Given the description of an element on the screen output the (x, y) to click on. 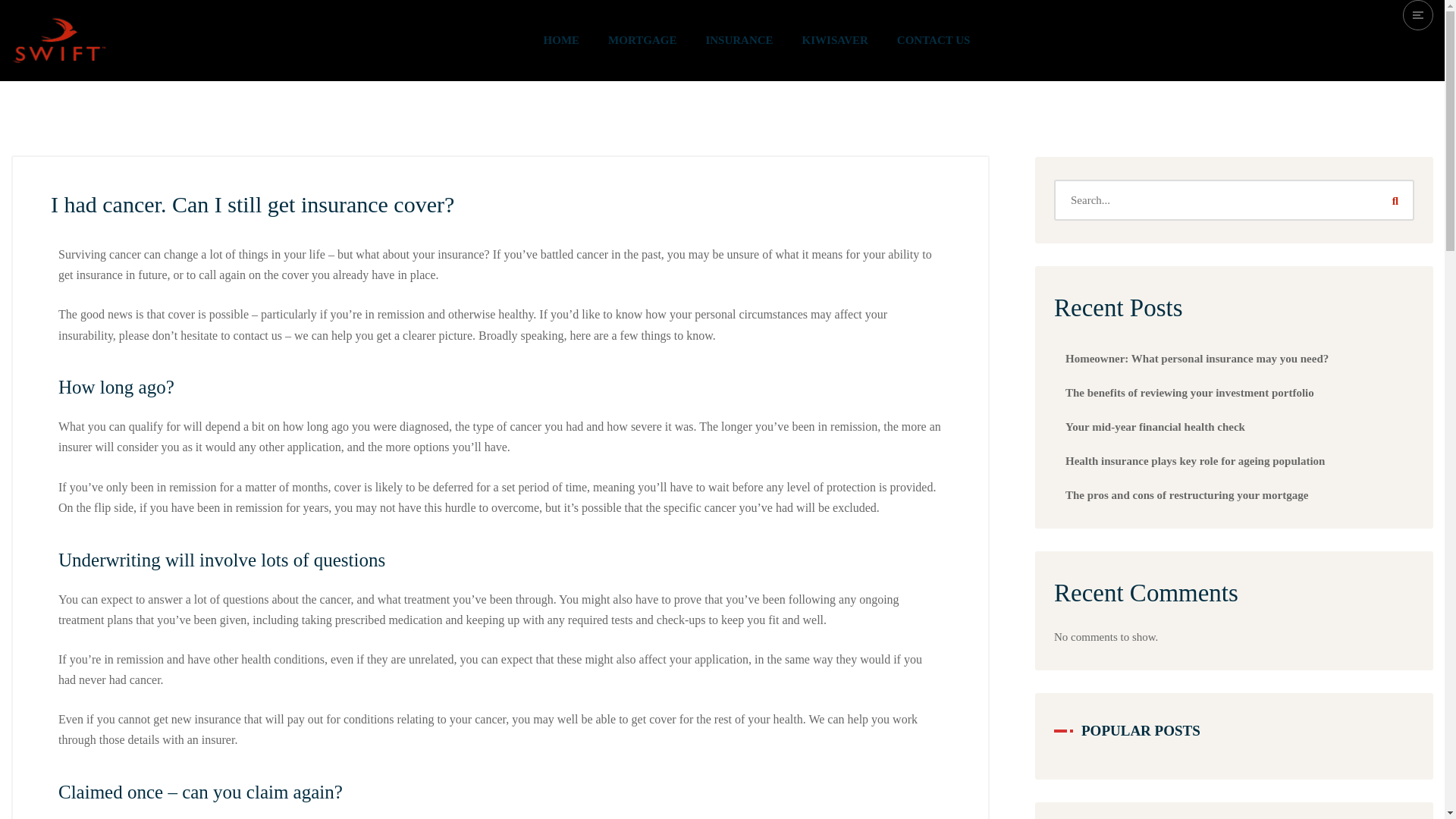
The pros and cons of restructuring your mortgage (1186, 494)
Homeowner: What personal insurance may you need? (1196, 358)
Health insurance plays key role for ageing population (1194, 460)
Your mid-year financial health check (1154, 426)
The benefits of reviewing your investment portfolio (1189, 392)
CONTACT US (933, 40)
